Given the description of an element on the screen output the (x, y) to click on. 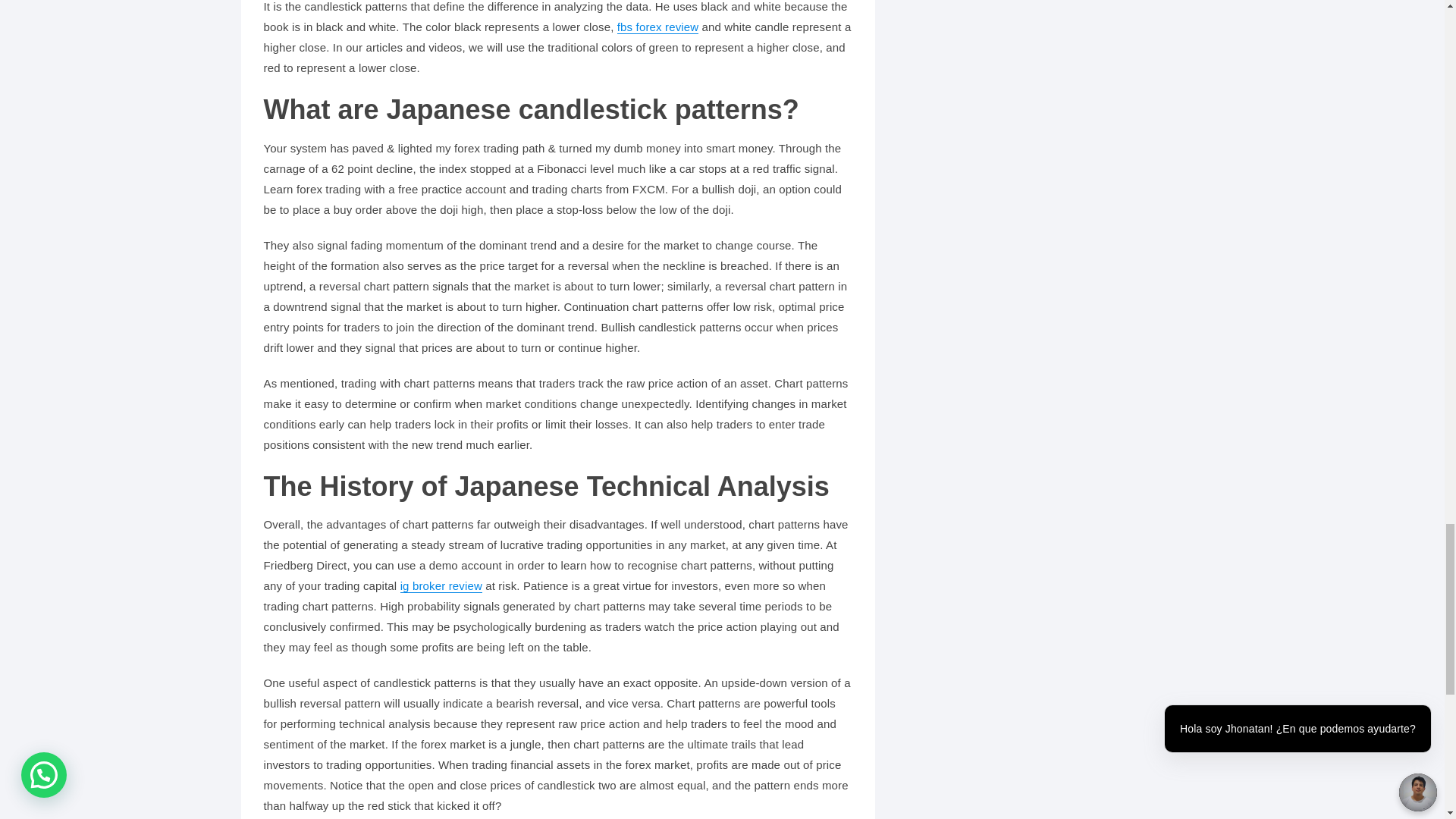
fbs forex review (657, 27)
ig broker review (440, 585)
